Given the description of an element on the screen output the (x, y) to click on. 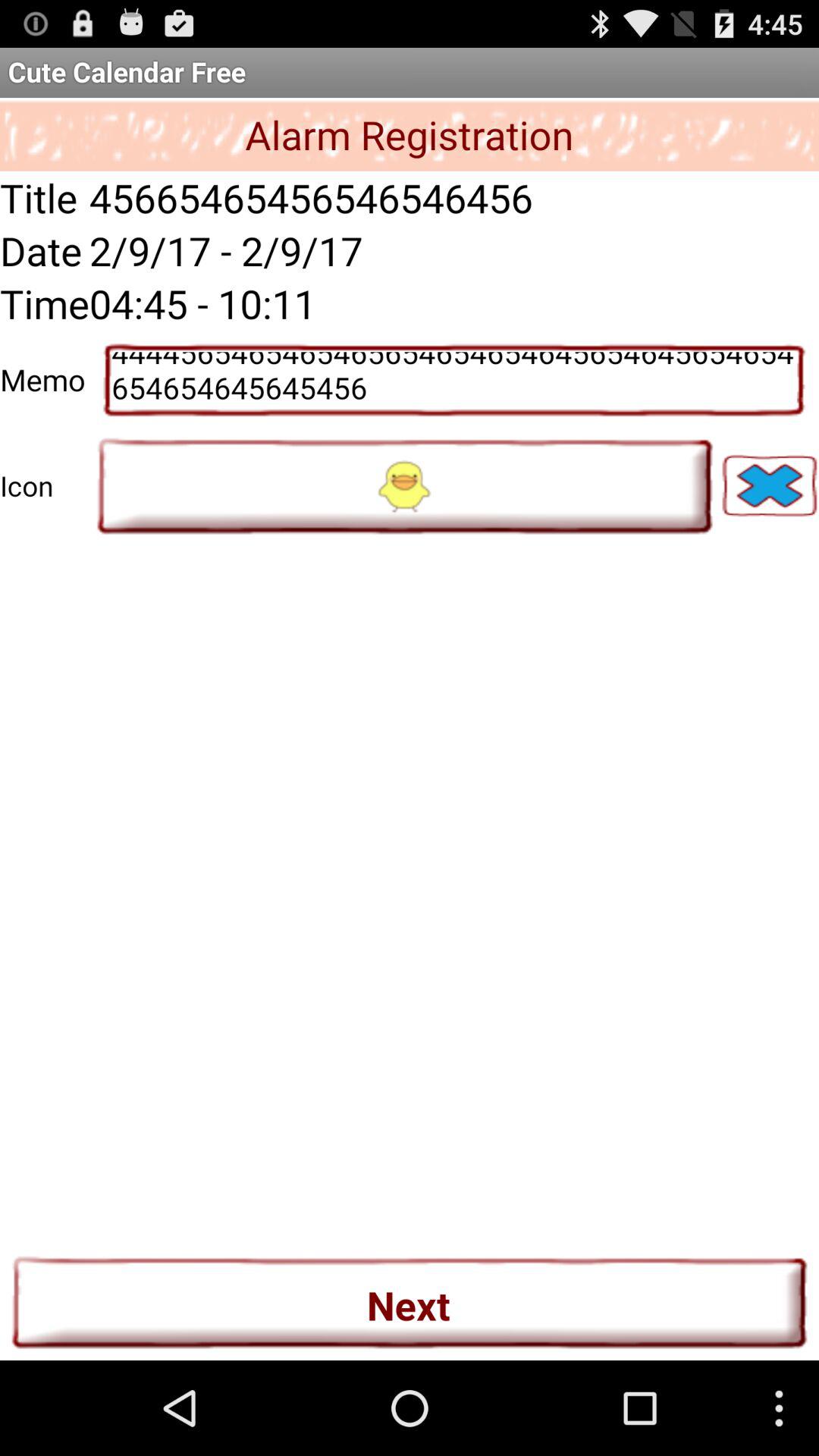
click on the field beside memo (454, 380)
